Given the description of an element on the screen output the (x, y) to click on. 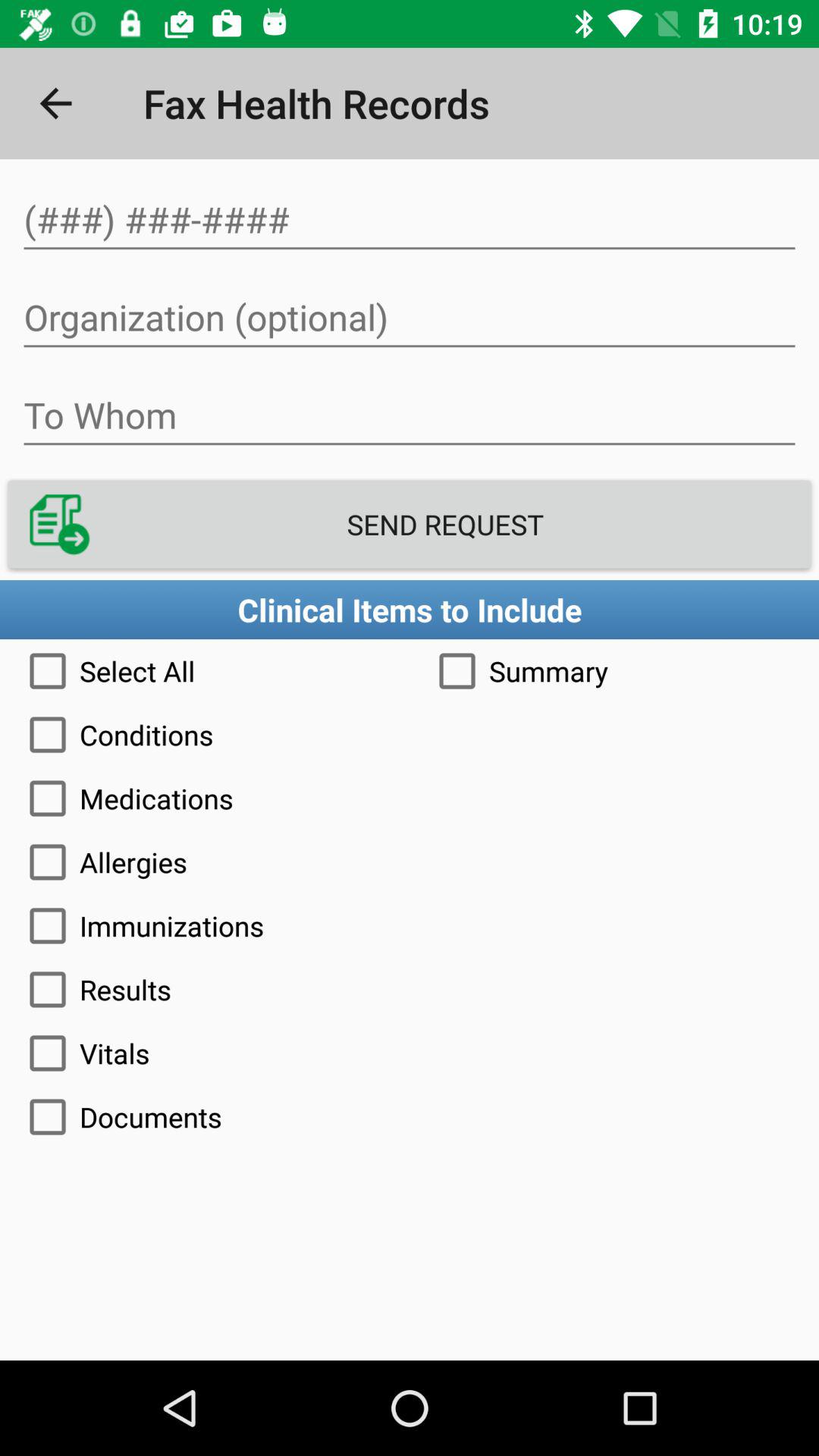
swipe until the immunizations icon (409, 925)
